Given the description of an element on the screen output the (x, y) to click on. 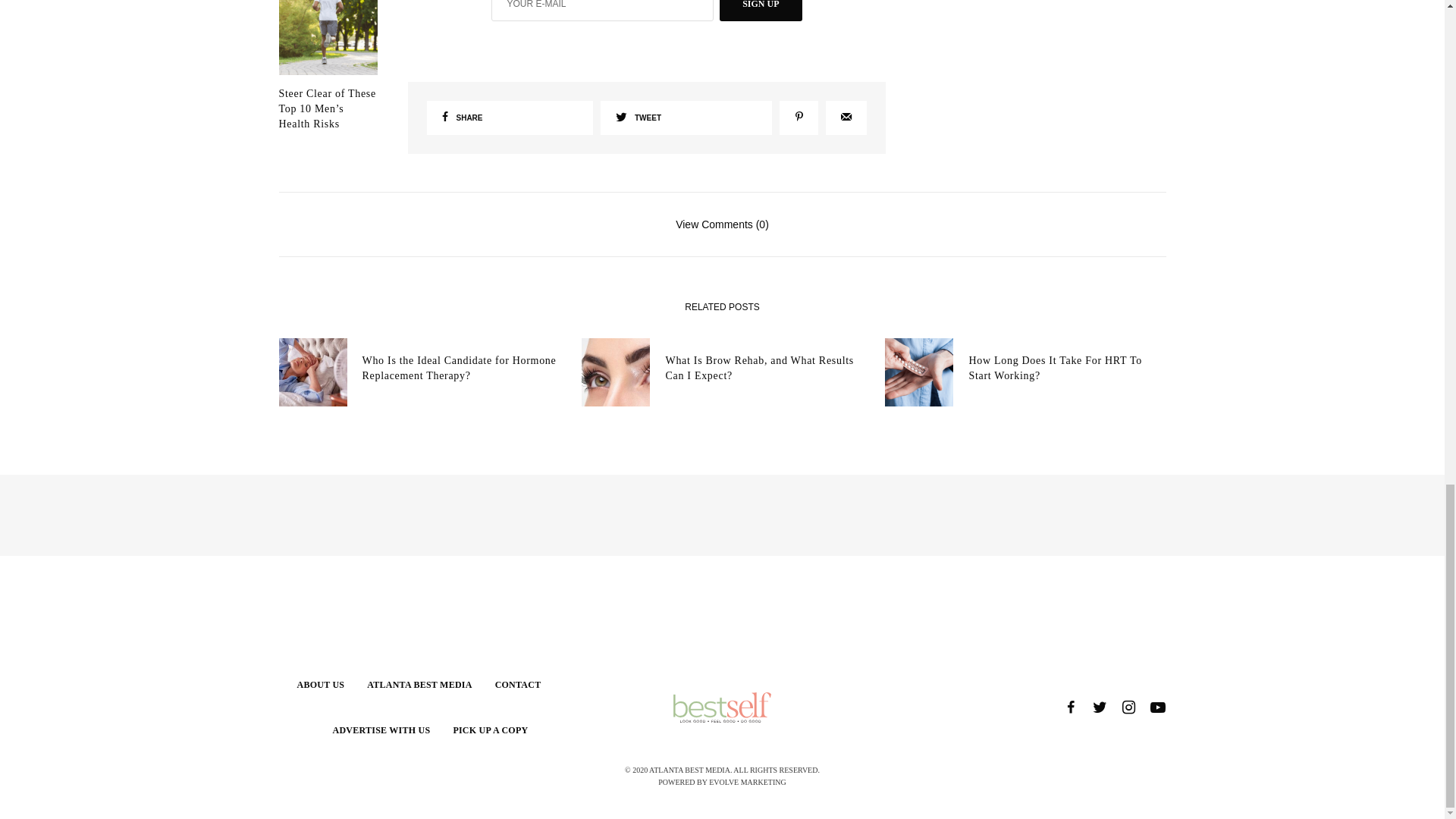
What Is Brow Rehab, and What Results Can I Expect? (763, 367)
The Signs and Symptoms of Low Testosterone (328, 36)
Who Is the Ideal Candidate for Hormone Replacement Therapy? (460, 367)
SIGN UP (760, 10)
How Long Does It Take For HRT To Start Working? (1067, 367)
SHARE (509, 117)
Best Self Atlanta (721, 707)
